Given the description of an element on the screen output the (x, y) to click on. 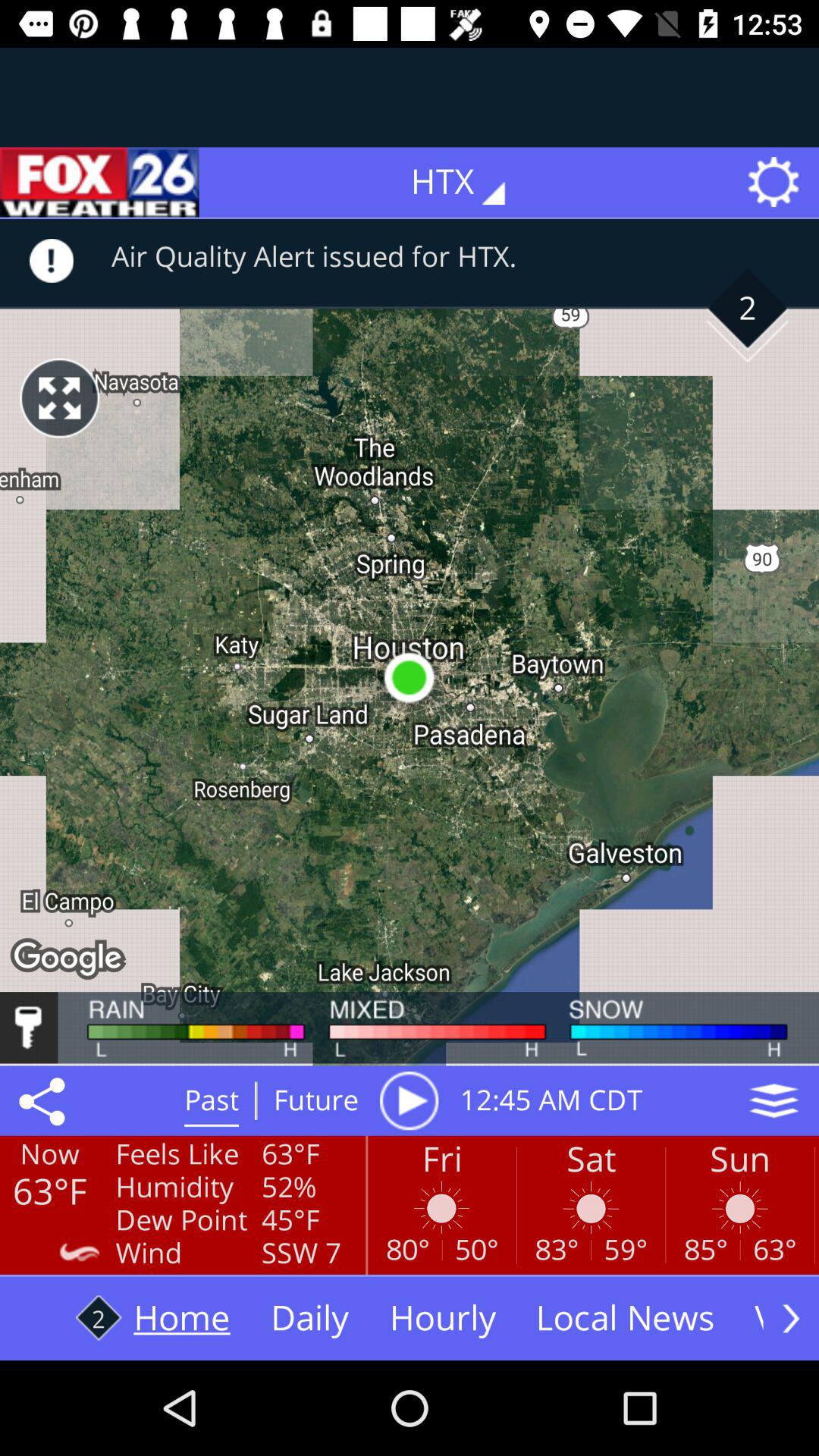
turn off icon next to the 12 45 am (409, 1100)
